Given the description of an element on the screen output the (x, y) to click on. 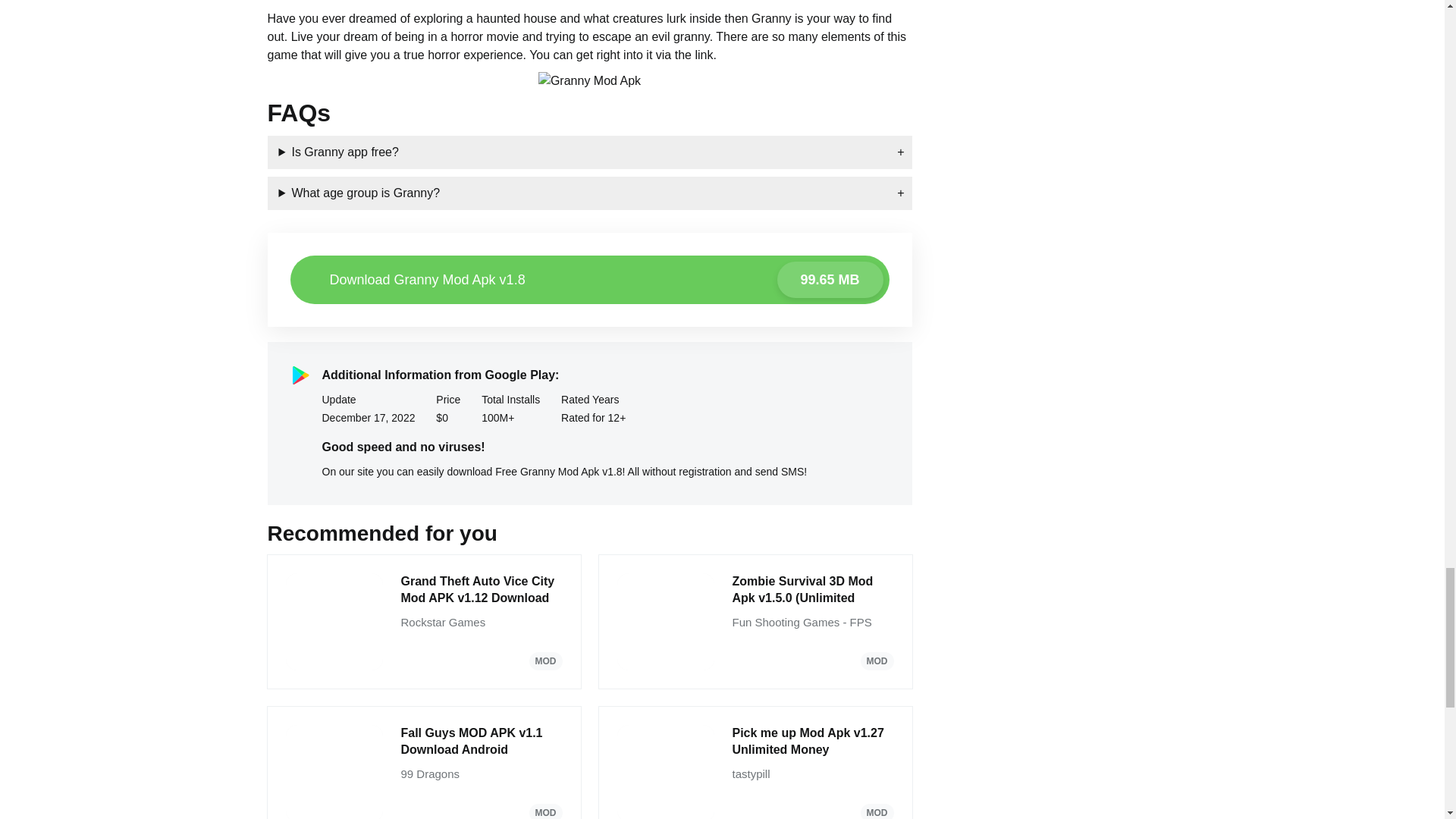
Fall Guys MOD APK V1.1 Download Android (481, 741)
Pick Me Up Mod Apk V1.27 Unlimited Money (812, 741)
